Given the description of an element on the screen output the (x, y) to click on. 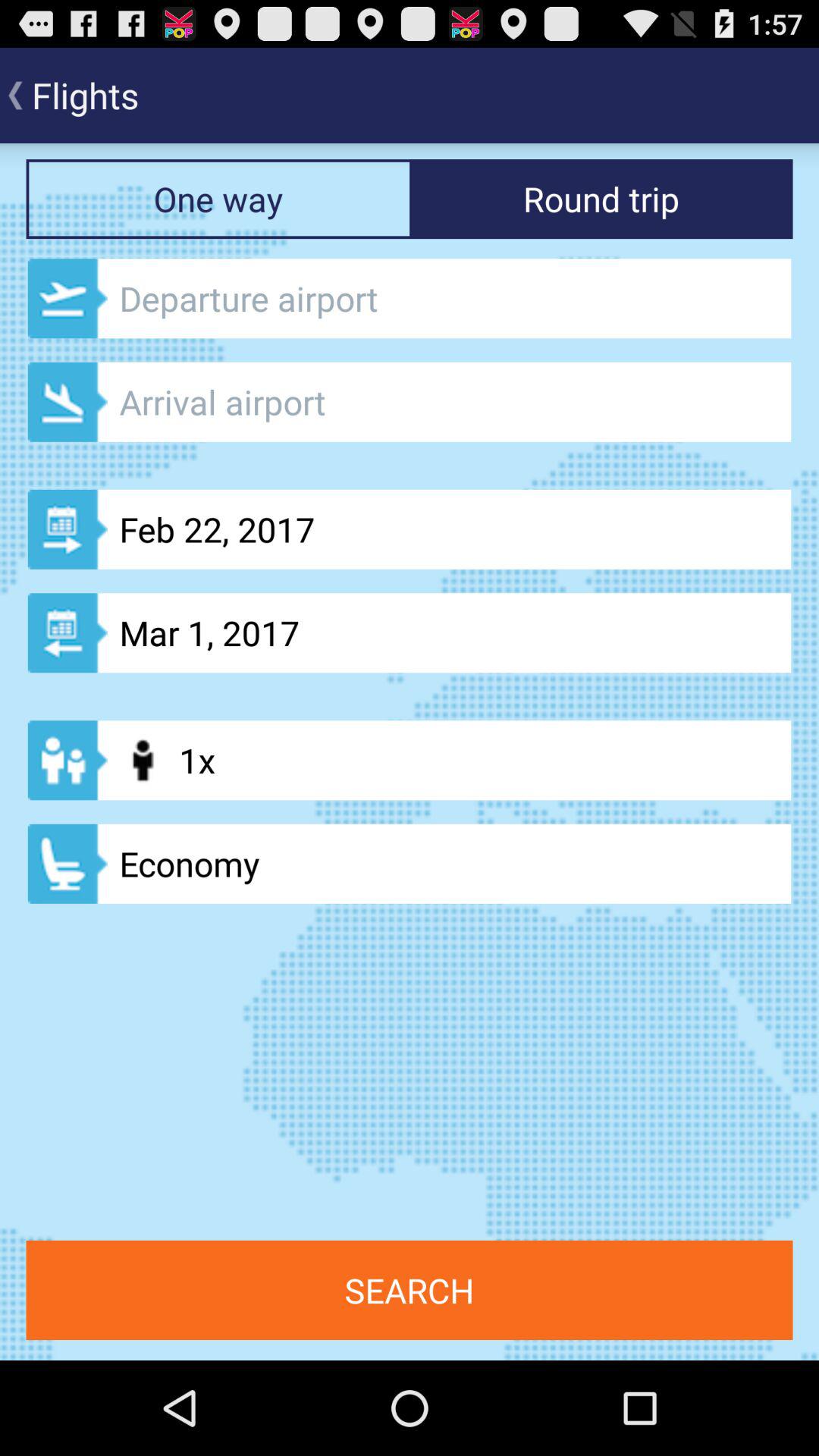
select the text says round trip (601, 198)
click on economy field (409, 864)
click on the button one way (217, 198)
click on arrival airport (409, 402)
click on the last option in one way (409, 864)
click on departure airport (409, 298)
click on the button next to round trip (217, 198)
click on icon below feb 22 2017 (409, 632)
click on the button which is above the mar 1 2017 (409, 529)
select the icon which is on the fourth row (67, 759)
select the text which says arrival airport (409, 402)
click on the fourth button under round trip (409, 632)
select the blue icon which is left side of the 1x (67, 759)
